Given the description of an element on the screen output the (x, y) to click on. 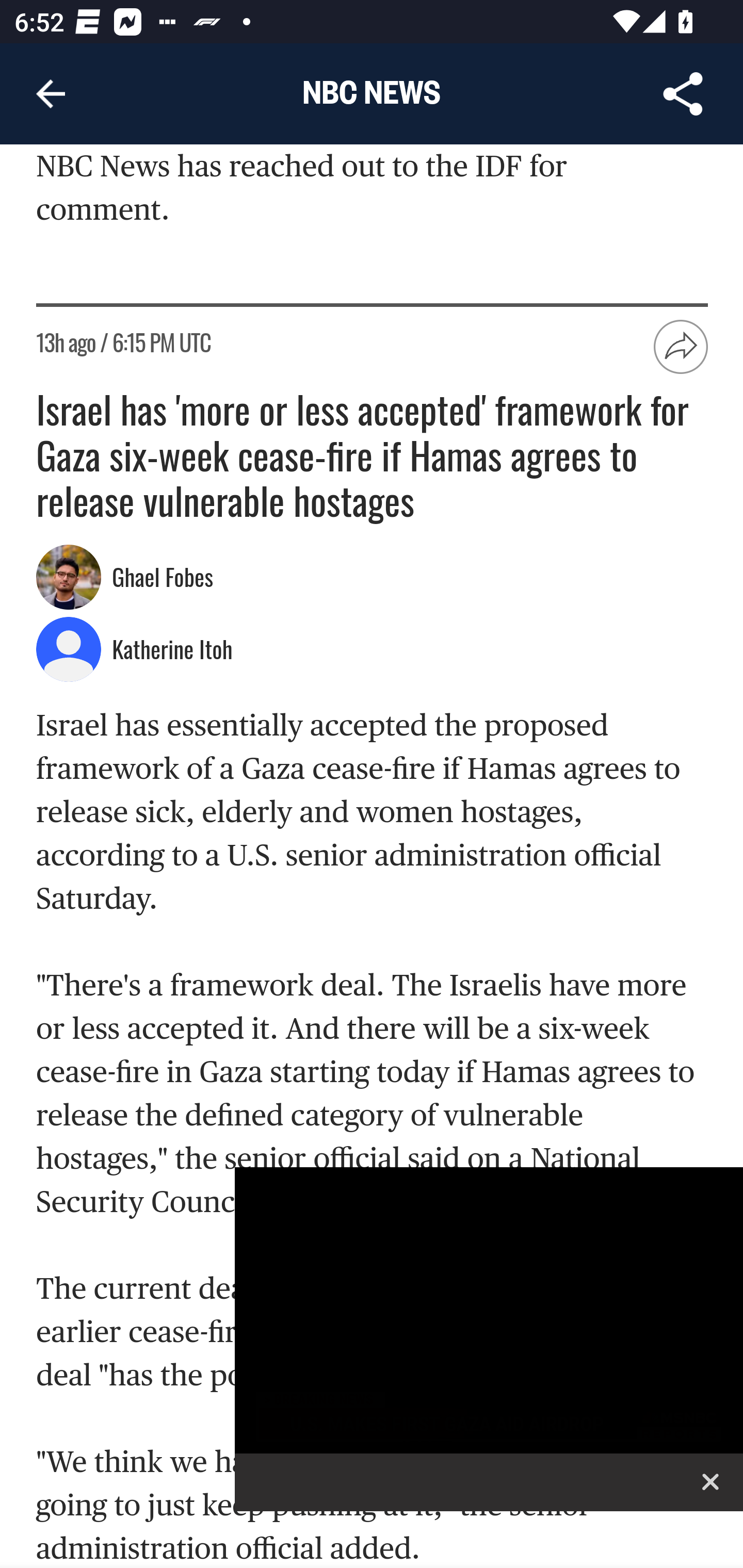
Navigate up (50, 93)
Share Article, button (683, 94)
open social share icon list (681, 347)
ghael-fobes-ncpn1300094 (69, 578)
Ghael Fobes (165, 578)
